Given the description of an element on the screen output the (x, y) to click on. 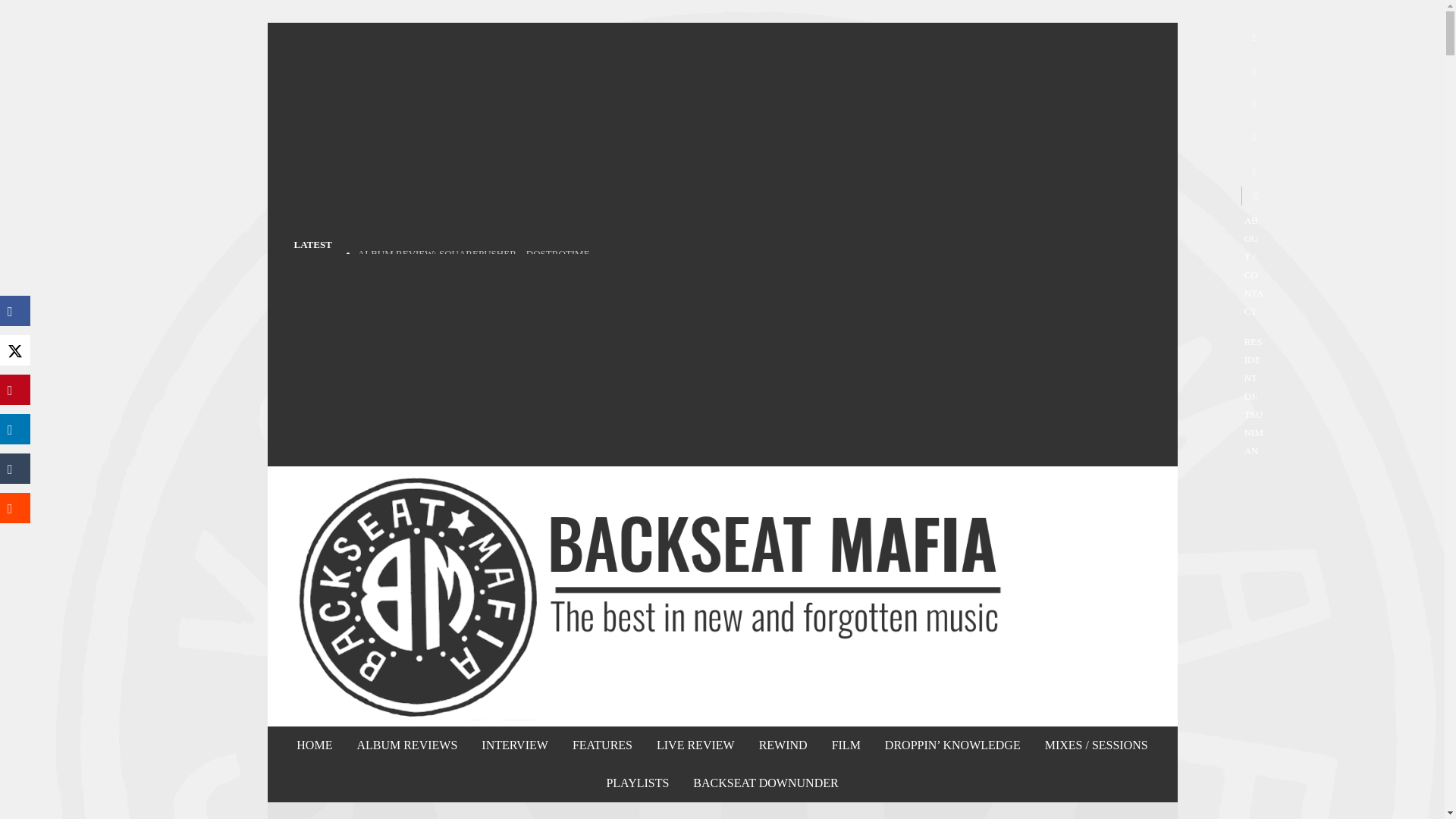
INTERVIEW (514, 745)
ALBUM REVIEWS (405, 745)
FILM (845, 745)
REWIND (782, 745)
FEATURES (602, 745)
LIVE REVIEW (695, 745)
HOME (313, 745)
PLAYLISTS (637, 783)
